Given the description of an element on the screen output the (x, y) to click on. 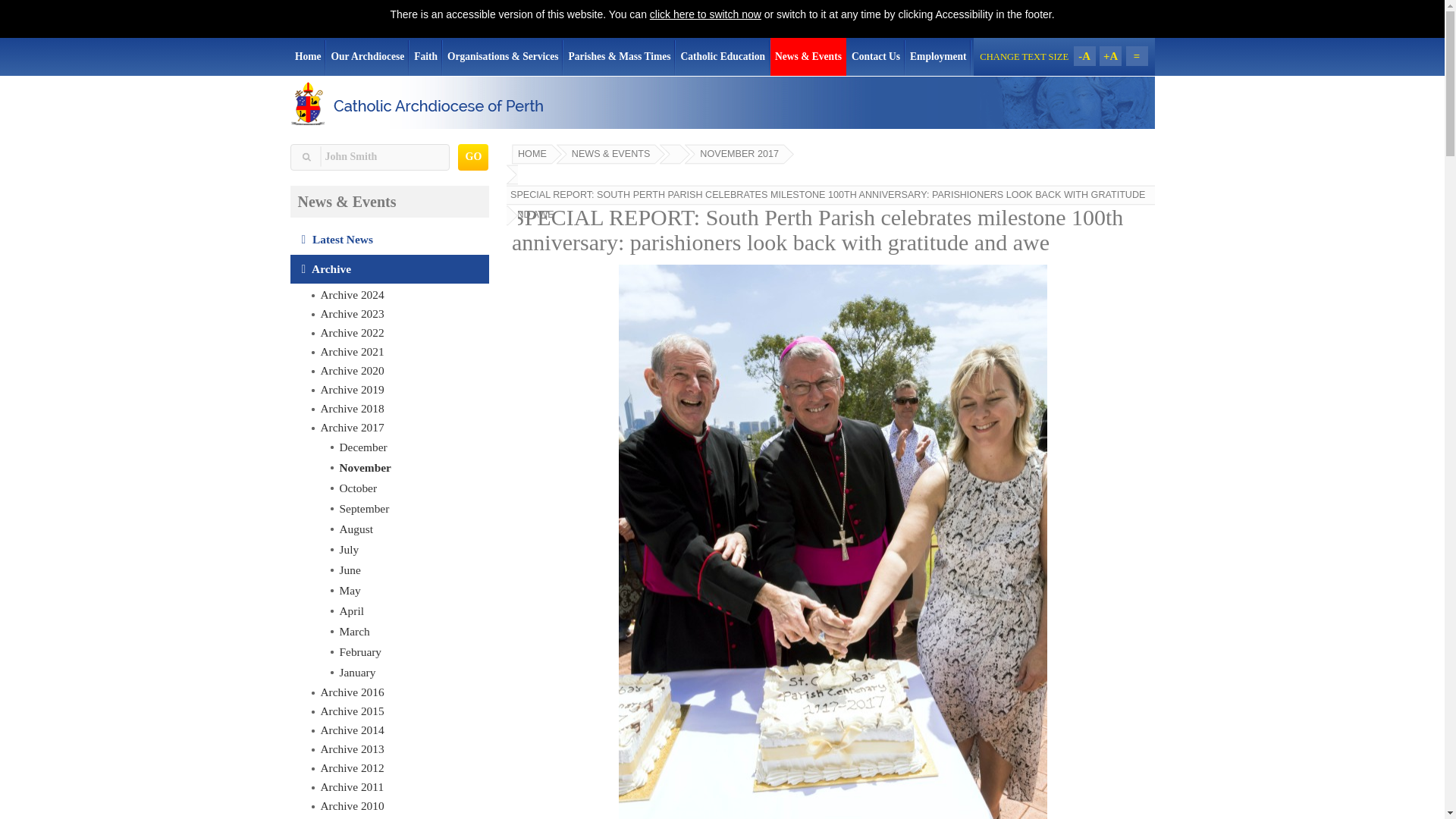
Contact Us (874, 56)
Accessibility (705, 14)
John Smith (368, 157)
Home (307, 56)
Our Archdiocese (367, 56)
Employment (938, 56)
GO (472, 157)
John Smith (368, 157)
GO (472, 157)
News (389, 239)
 Archive (389, 268)
Archive 2023 (398, 313)
Archive 2024 (398, 294)
Archive 2023 (398, 313)
-A (1085, 55)
